Given the description of an element on the screen output the (x, y) to click on. 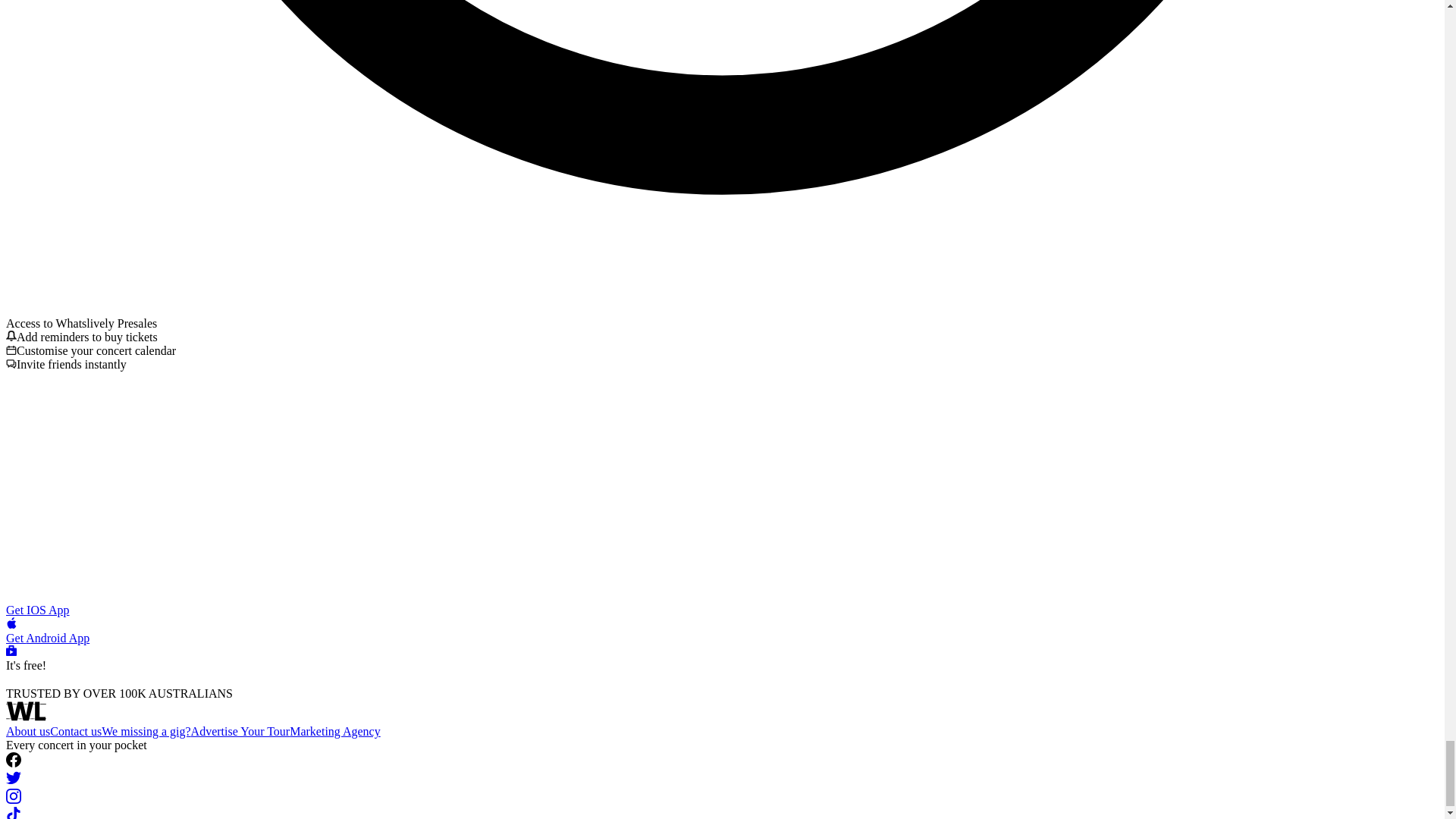
About us (27, 730)
Advertise Your Tour (239, 730)
We missing a gig? (145, 730)
Marketing Agency (334, 730)
Contact us (75, 730)
